Given the description of an element on the screen output the (x, y) to click on. 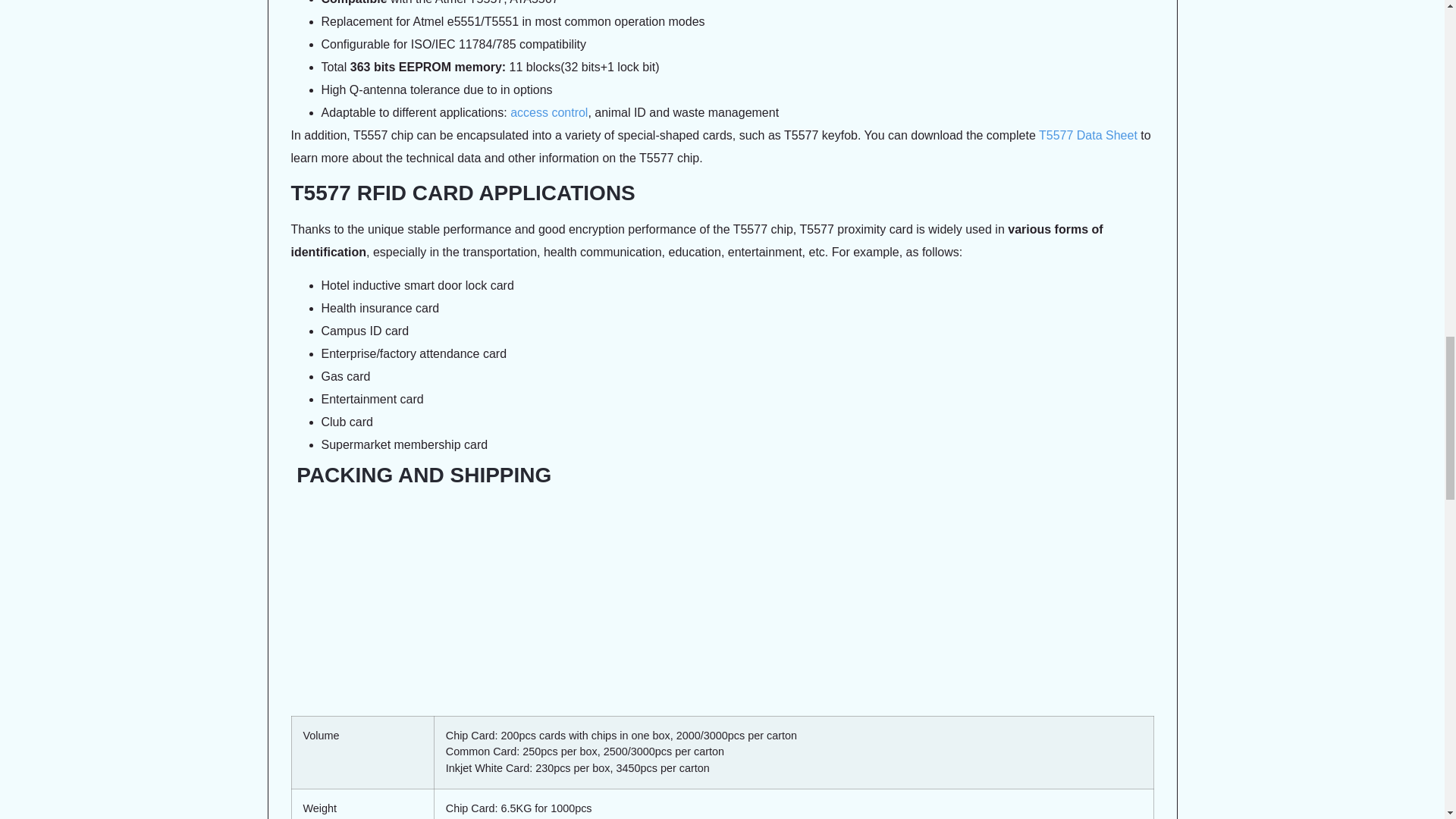
RFID for Access Control Management You Would Like to Know (549, 112)
